Given the description of an element on the screen output the (x, y) to click on. 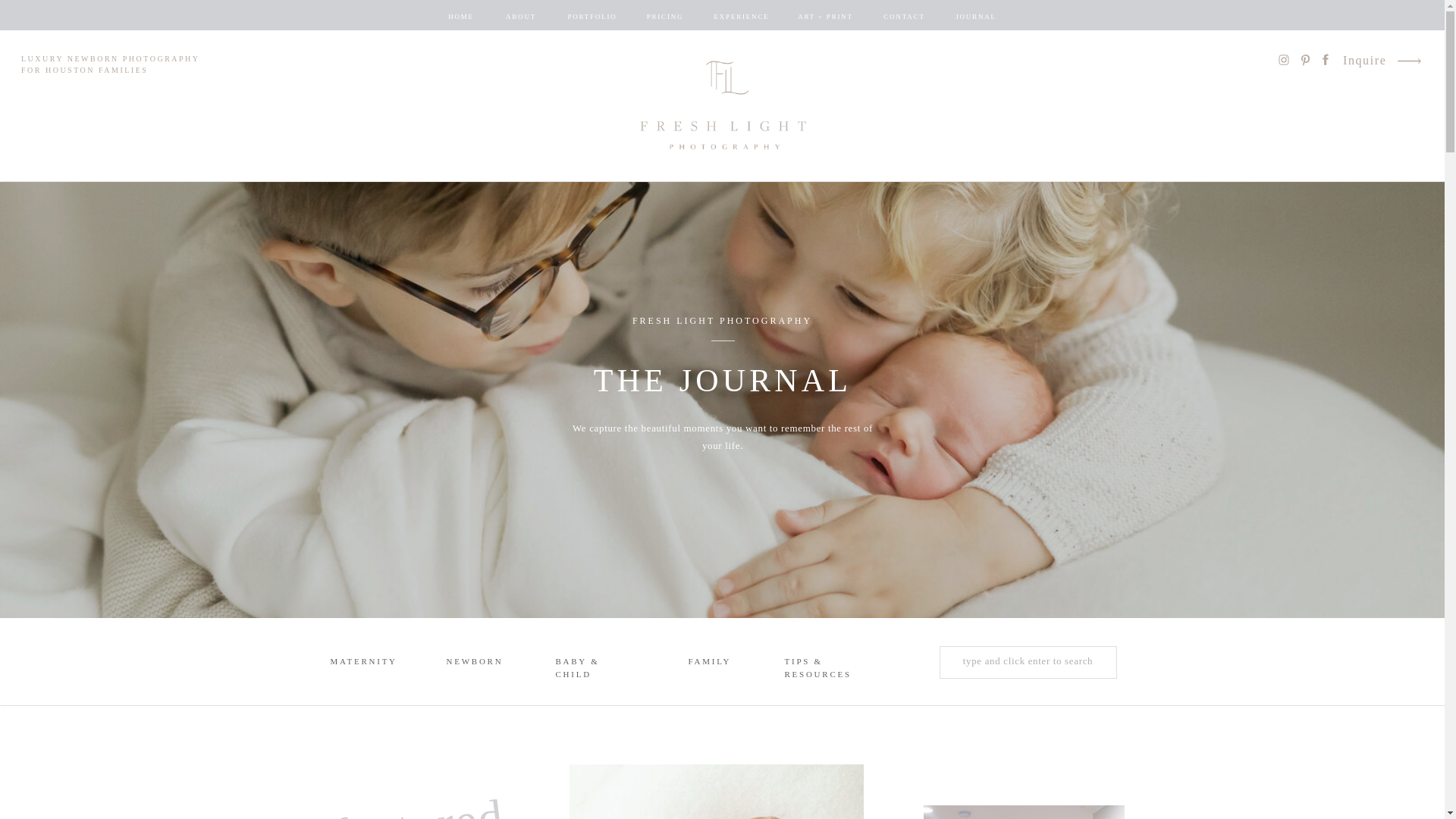
HOME (461, 17)
FAMILY (709, 662)
PRICING (665, 17)
EXPERIENCE (741, 17)
Inquire  (1364, 61)
CONTACT (903, 17)
NEWBORN (472, 662)
ABOUT (520, 17)
MATERNITY (361, 662)
PORTFOLIO (591, 17)
arrow (1408, 60)
JOURNAL (975, 17)
arrow (1408, 60)
